Given the description of an element on the screen output the (x, y) to click on. 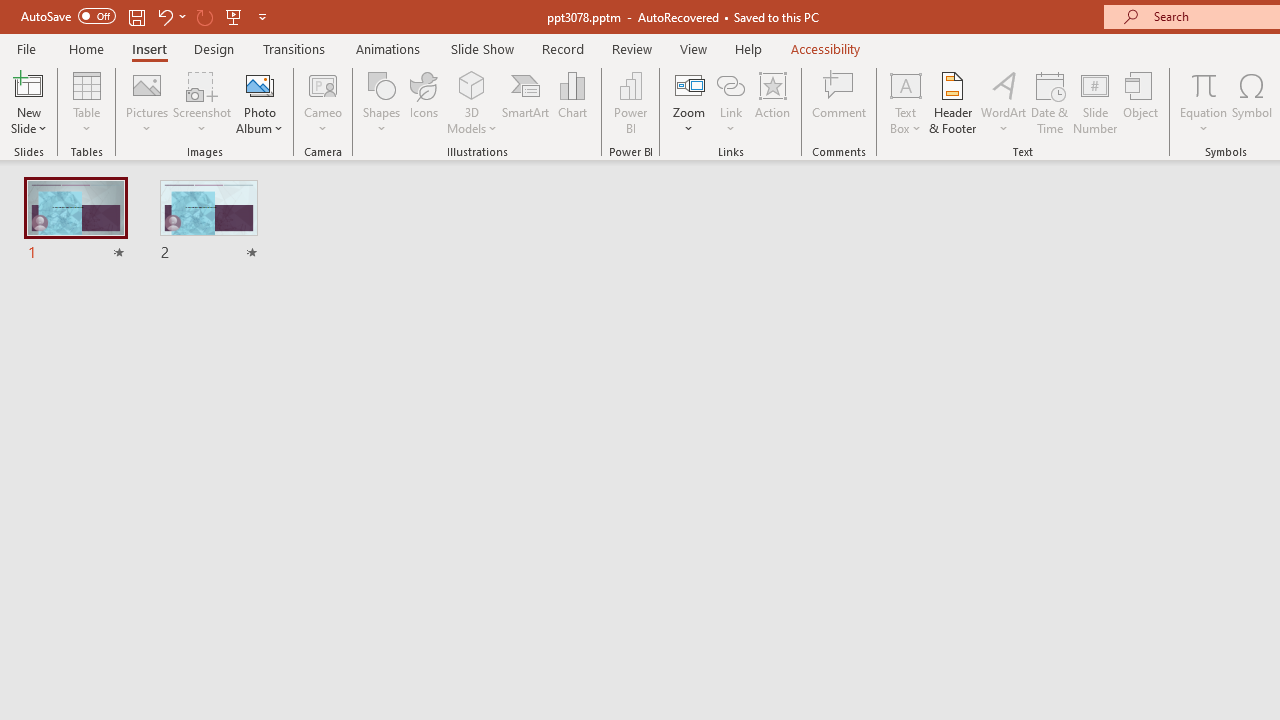
WordArt (1004, 102)
Header & Footer... (952, 102)
Power BI (630, 102)
Table (86, 102)
New Photo Album... (259, 84)
Chart... (572, 102)
Object... (1141, 102)
